Given the description of an element on the screen output the (x, y) to click on. 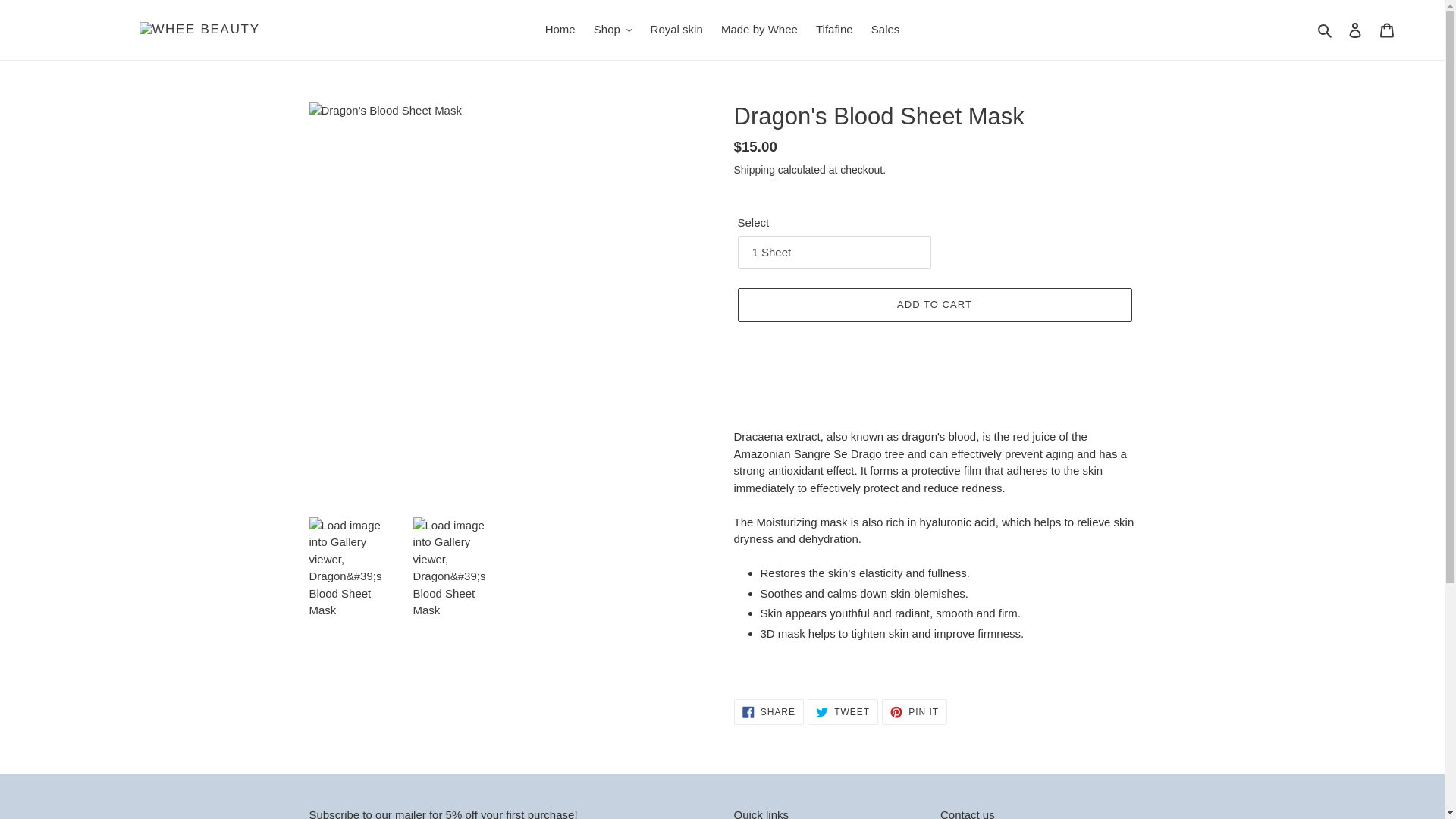
Royal skin (676, 29)
Log in (1355, 29)
Made by Whee (759, 29)
Shop (613, 29)
Search (1326, 29)
Home (560, 29)
Sales (885, 29)
Tifafine (834, 29)
Cart (1387, 29)
